Given the description of an element on the screen output the (x, y) to click on. 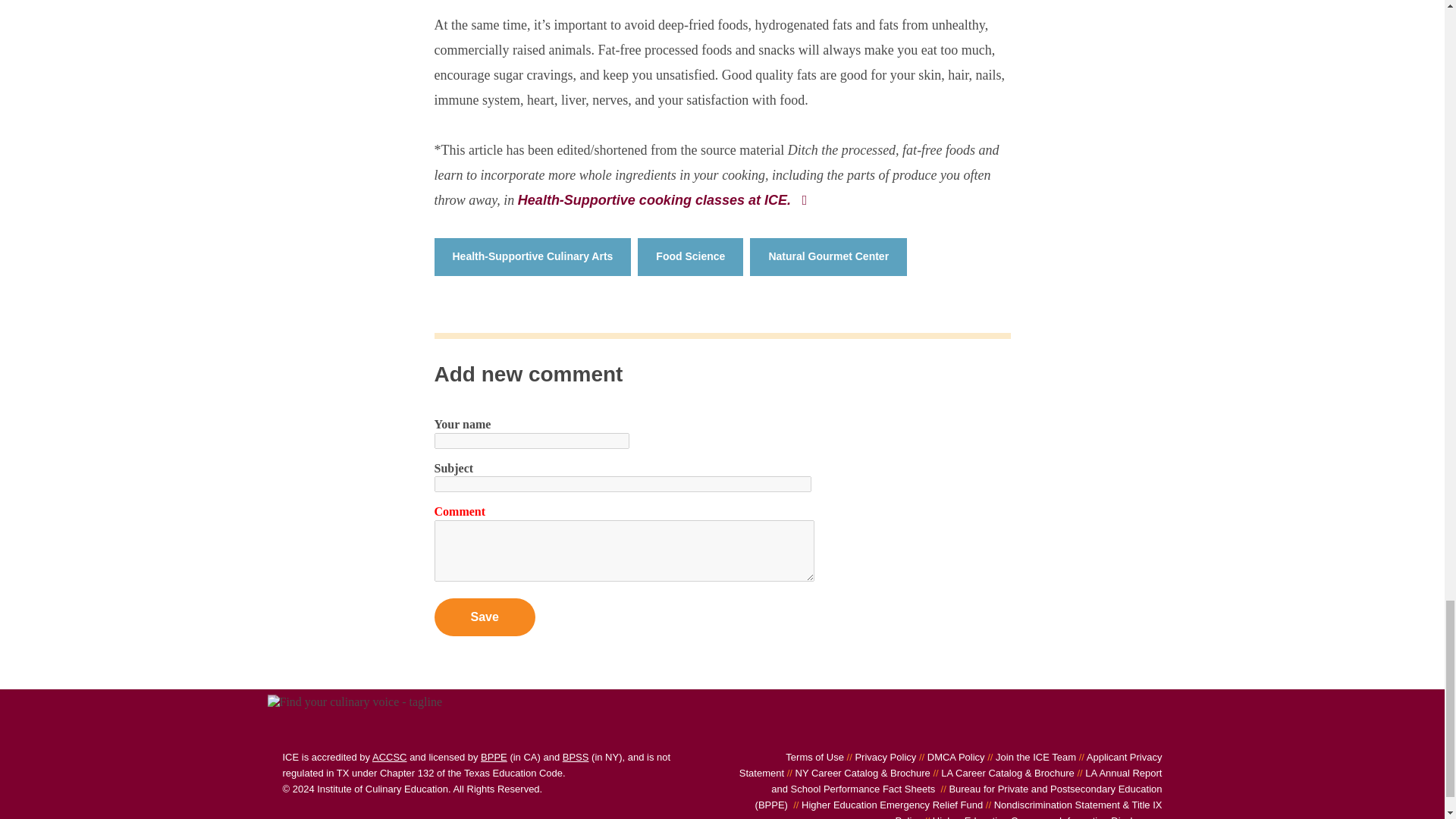
Save (483, 617)
Applicant Privacy Statement (950, 764)
Privacy Policy (879, 756)
Natural Gourmet Center (828, 257)
Save (483, 617)
BPSS (575, 756)
BPPE (493, 756)
Health-Supportive cooking classes at ICE. (663, 200)
DMCA Policy (949, 756)
Accrediting Commission of Career Schools and Colleges (389, 756)
